Given the description of an element on the screen output the (x, y) to click on. 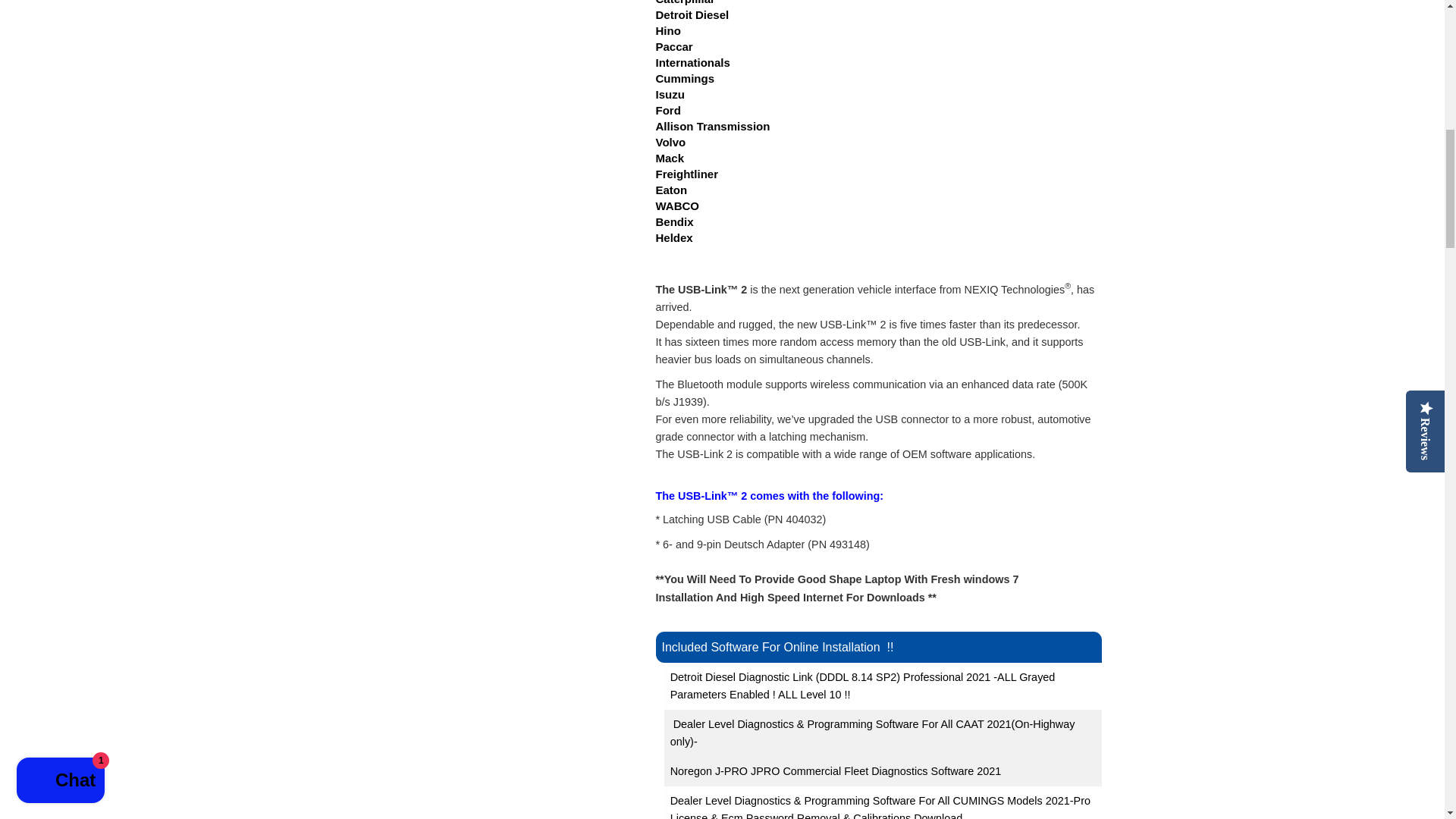
insite cummins 8.7 latest 2021 (879, 806)
cat et2021 Caterpillar Diagnostics (872, 732)
insite cummins 8.7 latest 2021 (879, 815)
